Given the description of an element on the screen output the (x, y) to click on. 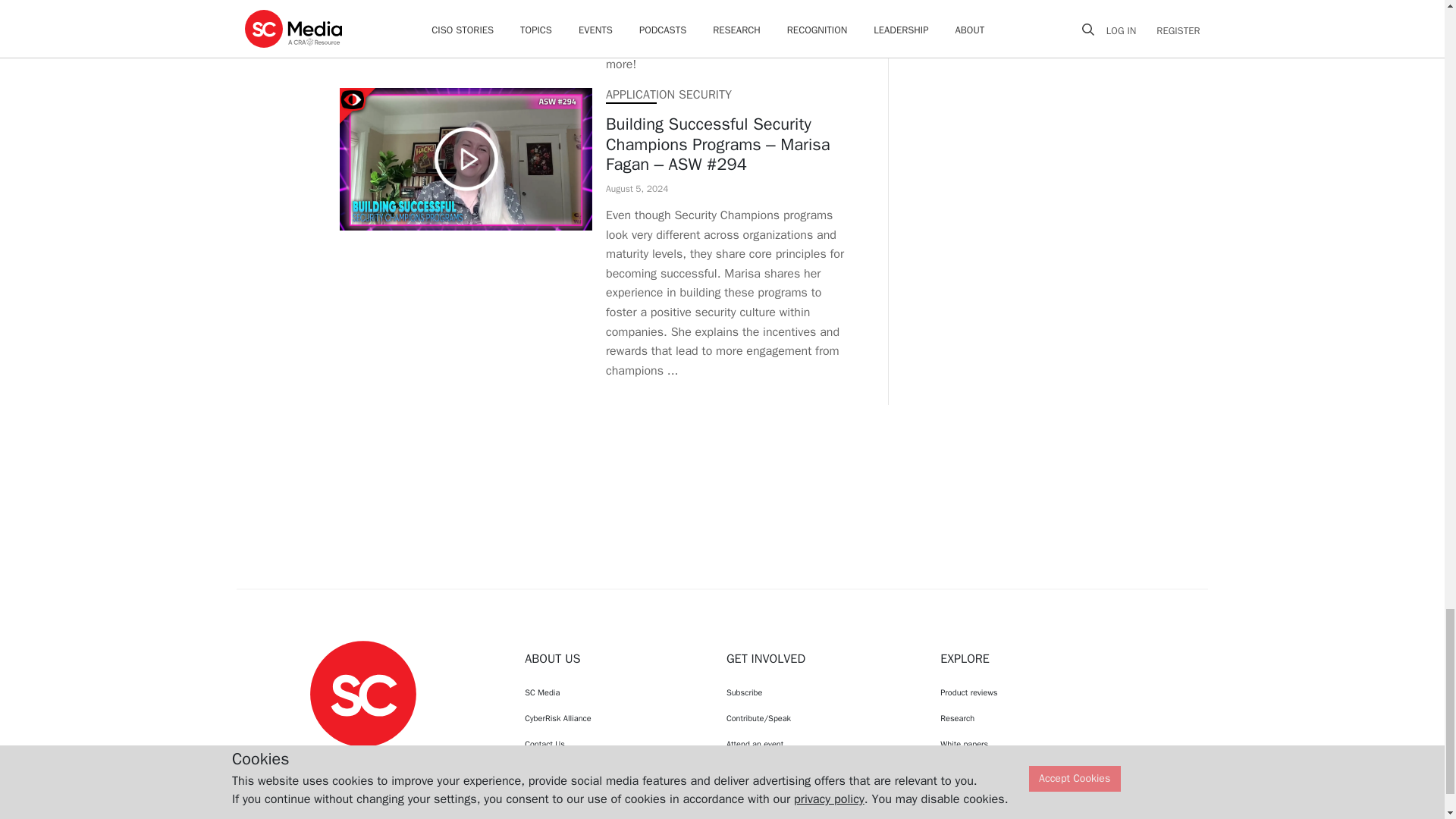
SC Media (362, 693)
SCMagazine on Facebook (324, 760)
SCMagazine on Twitter (362, 760)
SCMagazine on LinkedIn (401, 760)
